Given the description of an element on the screen output the (x, y) to click on. 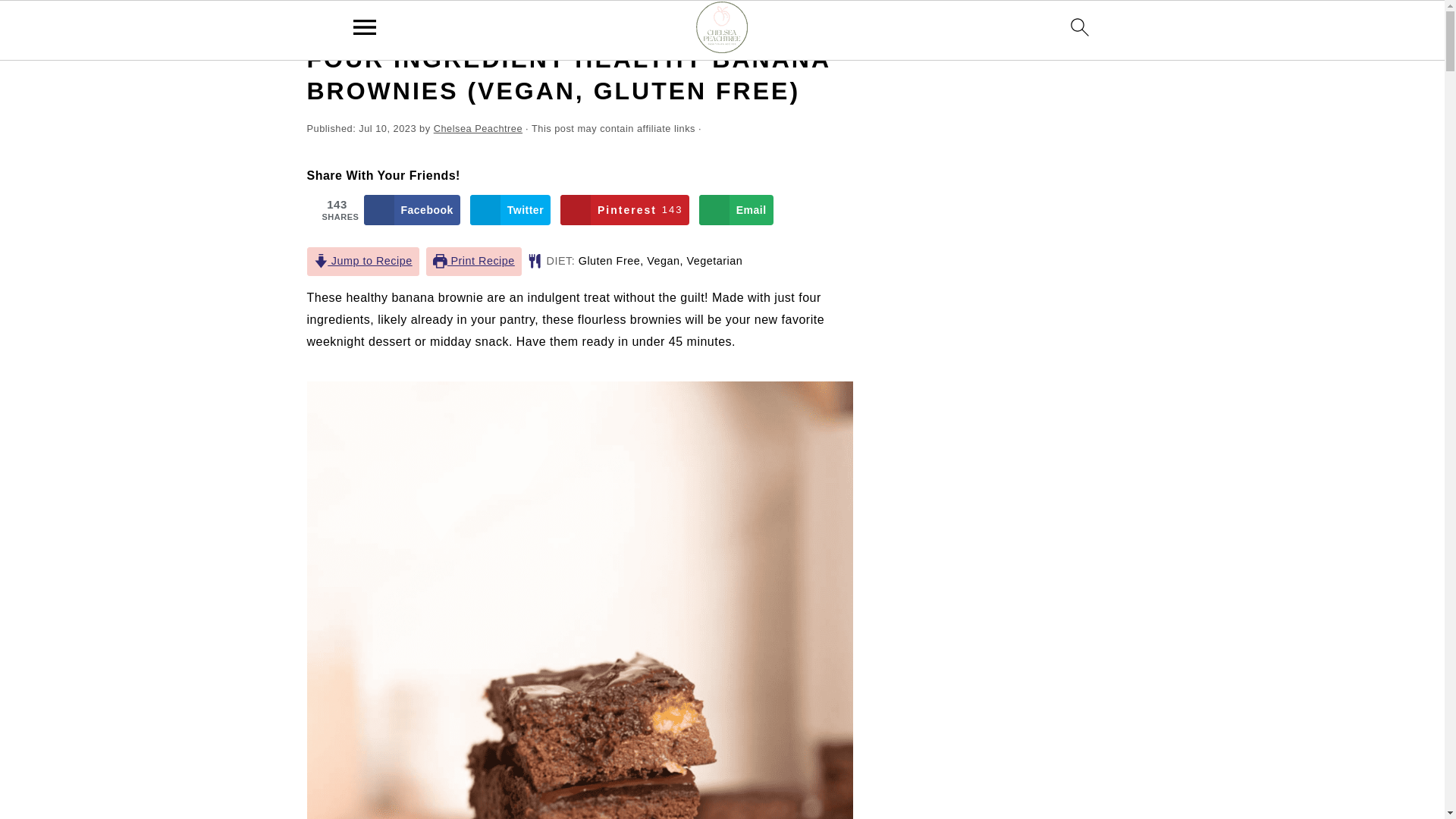
Desserts (417, 23)
Send over email (735, 209)
menu icon (365, 26)
Twitter (510, 209)
Share on Facebook (412, 209)
Print Recipe (473, 261)
Share on Twitter (510, 209)
Save to Pinterest (624, 209)
Email (735, 209)
Jump to Recipe (362, 261)
Recipes (365, 23)
Home (319, 23)
Facebook (412, 209)
Chelsea Peachtree (477, 128)
